Given the description of an element on the screen output the (x, y) to click on. 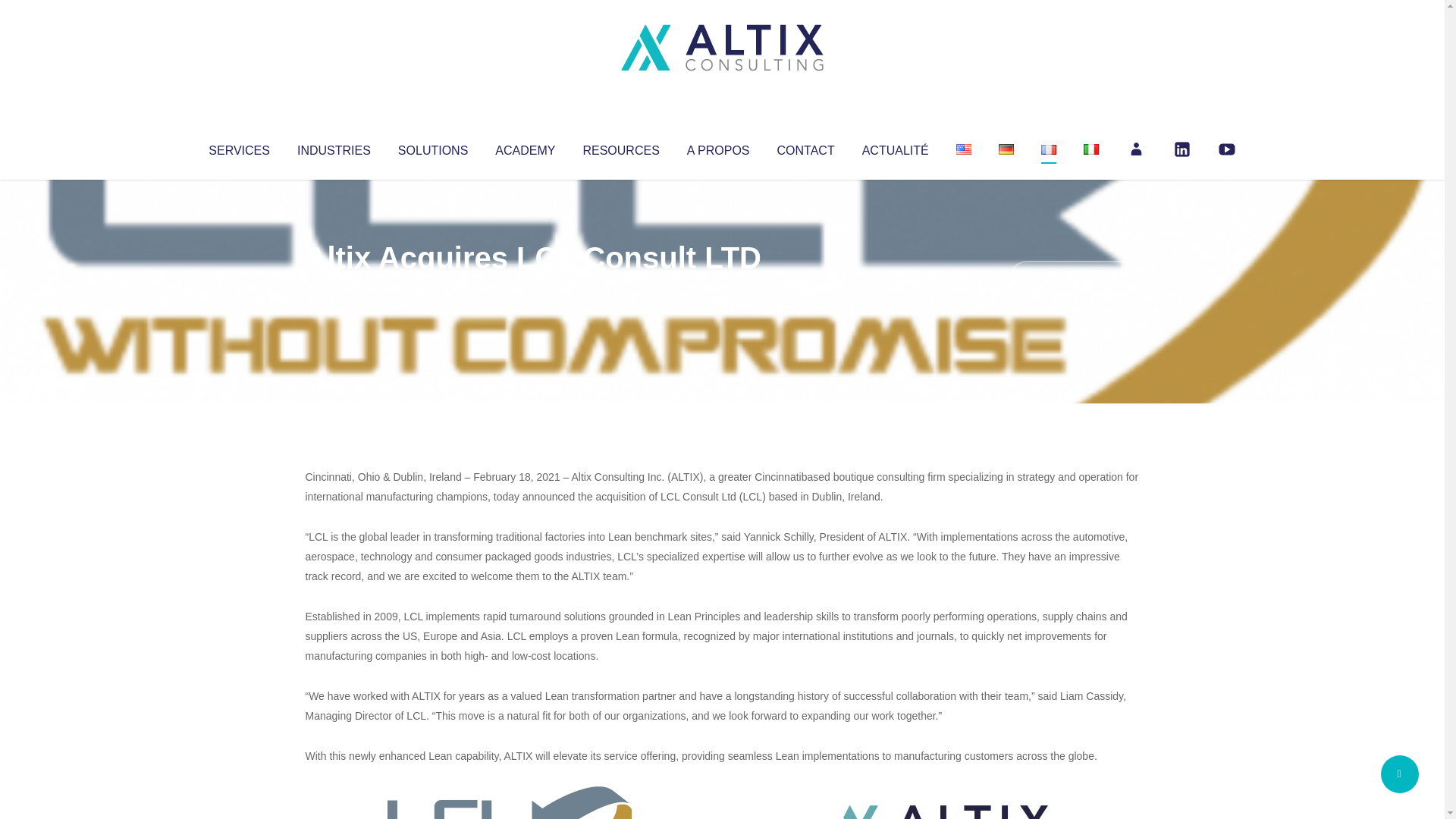
Altix (333, 287)
No Comments (1073, 278)
ACADEMY (524, 146)
A PROPOS (718, 146)
SERVICES (238, 146)
Uncategorized (530, 287)
INDUSTRIES (334, 146)
RESOURCES (620, 146)
Articles par Altix (333, 287)
SOLUTIONS (432, 146)
